Given the description of an element on the screen output the (x, y) to click on. 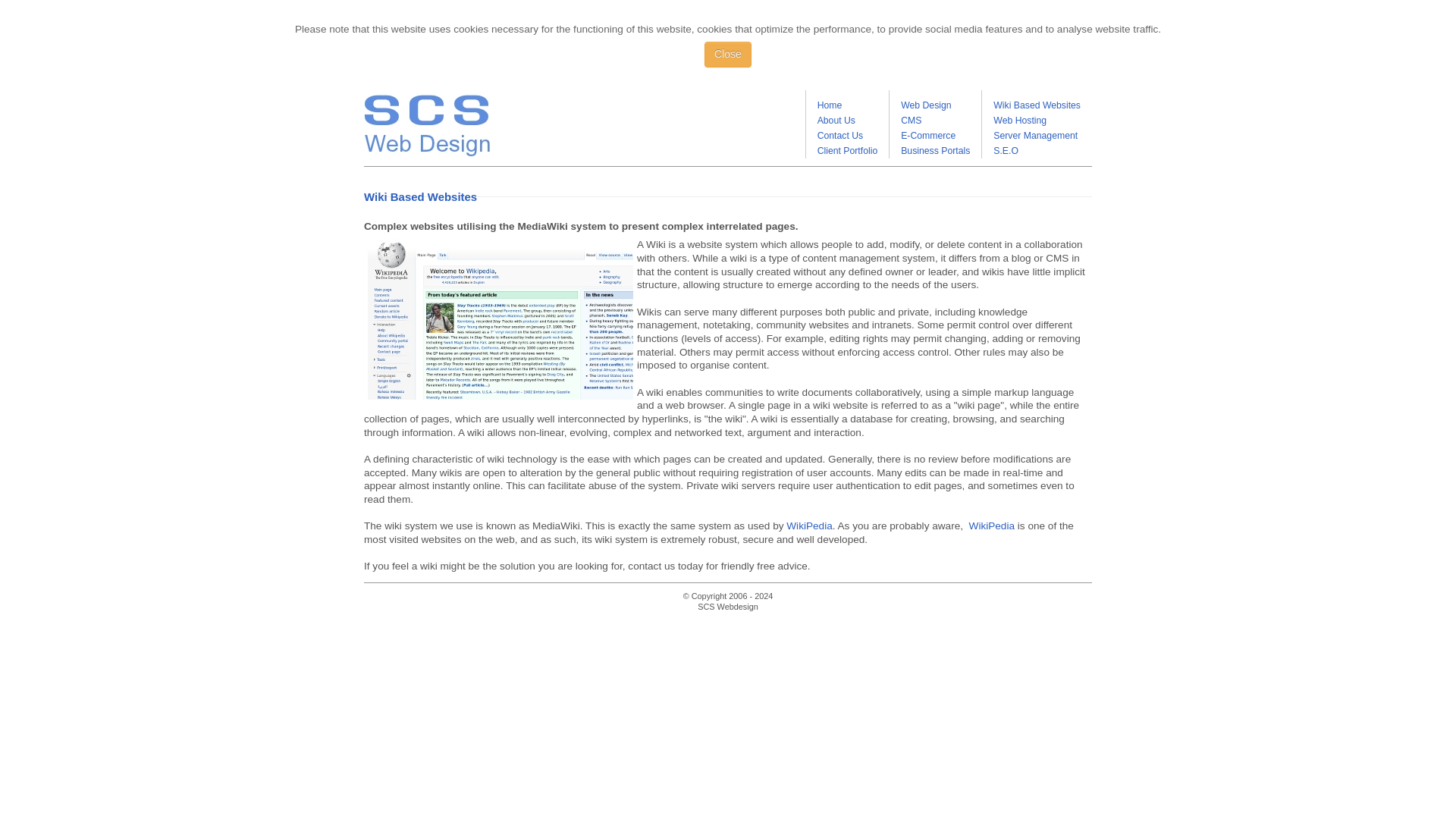
Business Portals (935, 150)
Wiki Based Websites (500, 318)
Home (829, 104)
WikiPedia (991, 525)
E-Commerce (928, 135)
Wiki Based Websites (1036, 104)
Web Design (925, 104)
Contact Us (839, 135)
S.E.O (1004, 150)
WikiPedia (808, 525)
About Us (836, 120)
Server Management (1034, 135)
Web Hosting (1019, 120)
Client Portfolio (846, 150)
Close (727, 54)
